Given the description of an element on the screen output the (x, y) to click on. 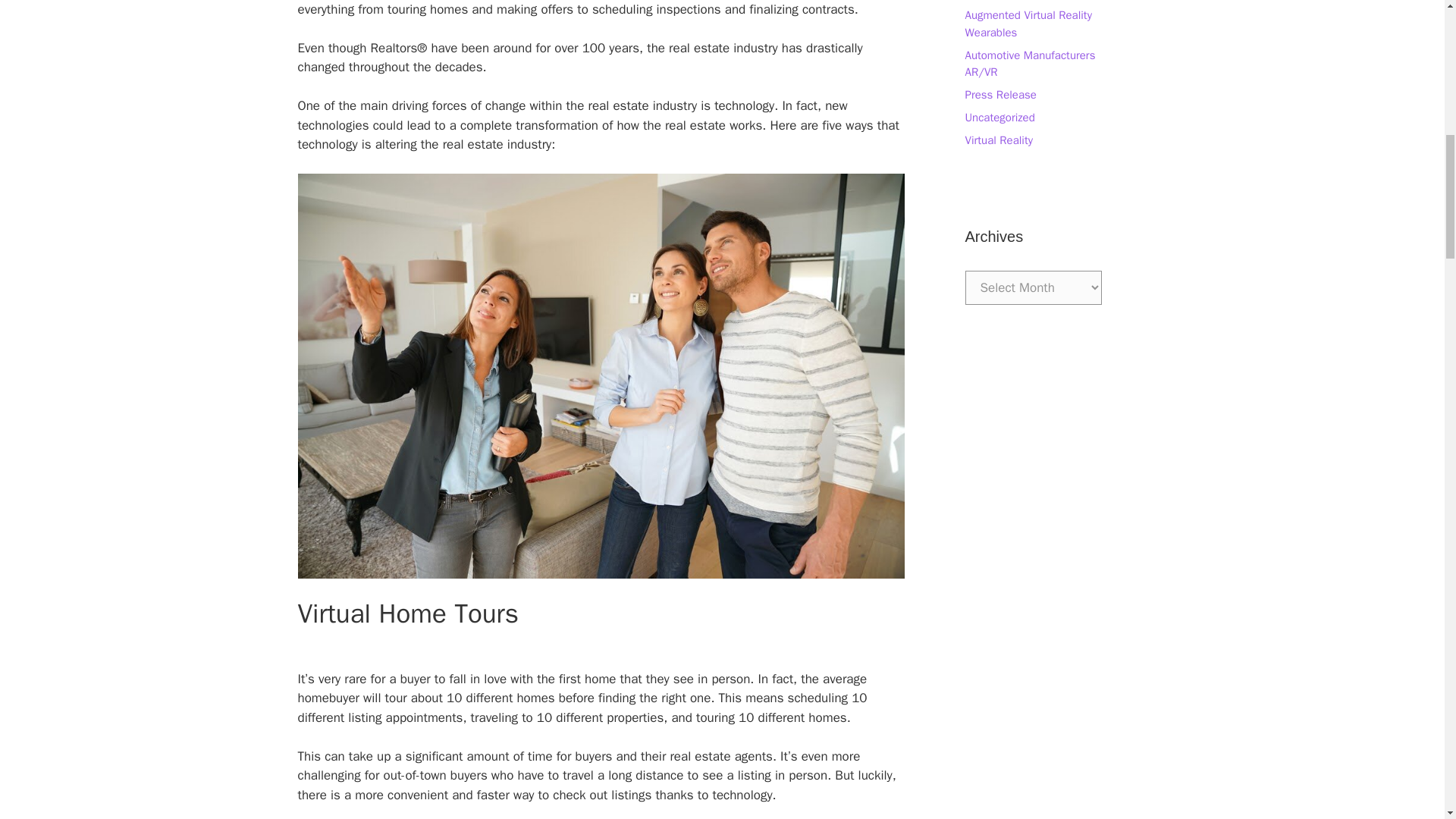
Augmented Virtual Reality Wearables (1026, 23)
10 different homes (500, 697)
Scroll back to top (1406, 720)
Press Release (999, 94)
Uncategorized (998, 117)
Virtual Reality (997, 140)
